Given the description of an element on the screen output the (x, y) to click on. 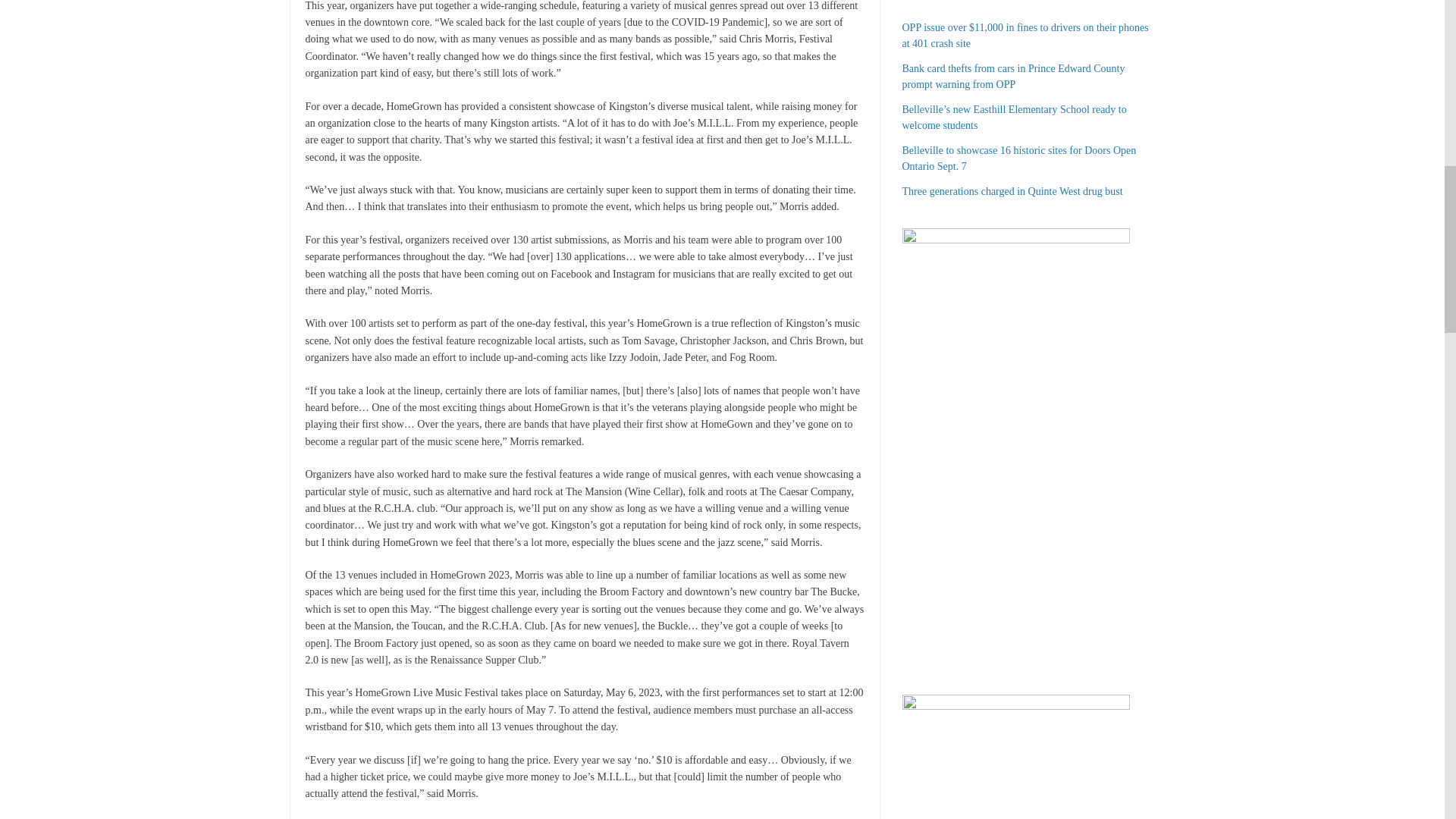
Three generations charged in Quinte West drug bust (1012, 191)
